Given the description of an element on the screen output the (x, y) to click on. 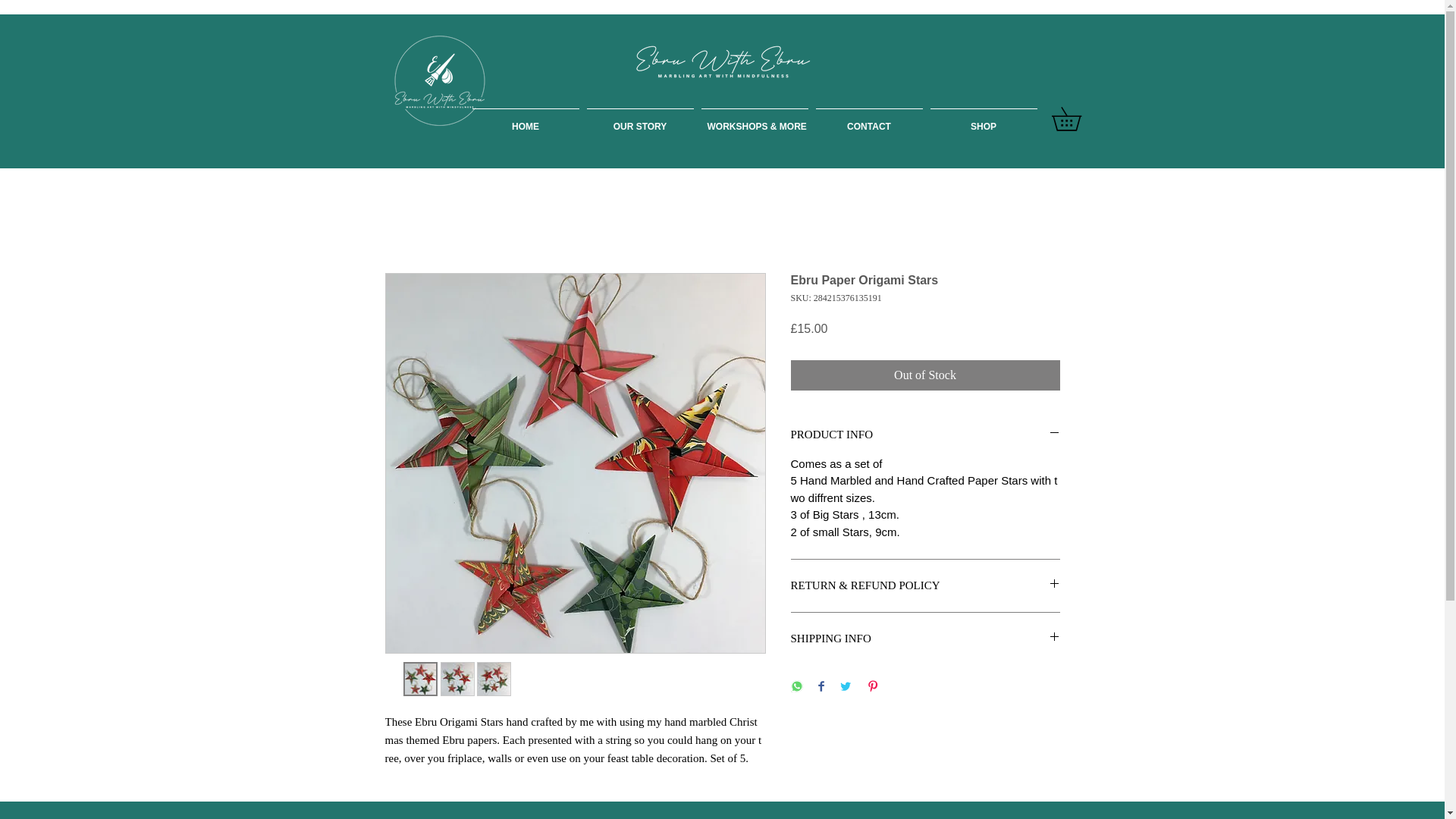
SHOP (983, 119)
Out of Stock (924, 375)
CONTACT (868, 119)
HOME (525, 119)
SHIPPING INFO (924, 638)
PRODUCT INFO (924, 434)
OUR STORY (639, 119)
